Given the description of an element on the screen output the (x, y) to click on. 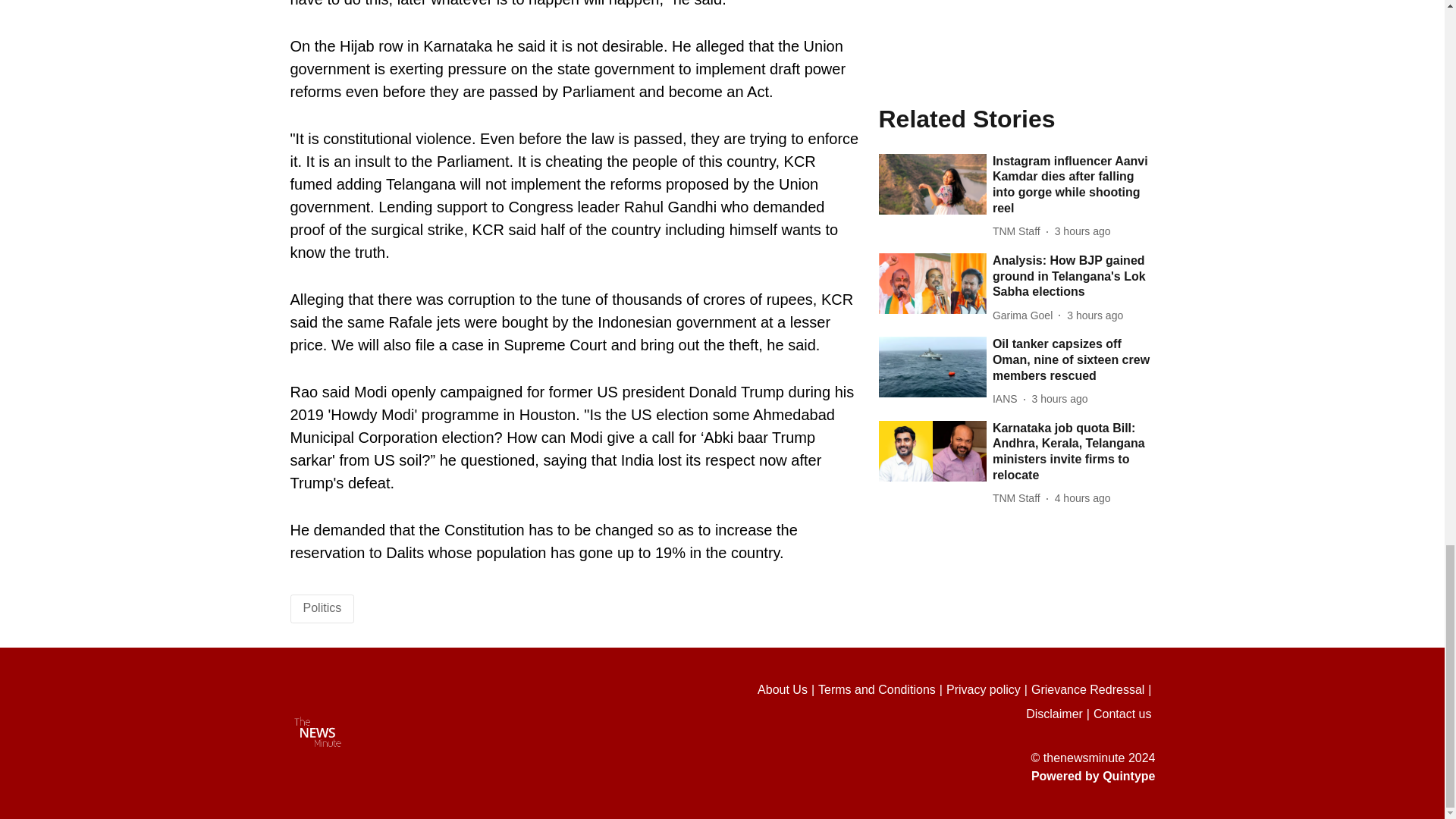
Terms and Conditions (882, 689)
About Us (787, 689)
Politics (322, 607)
Privacy policy (988, 689)
